Given the description of an element on the screen output the (x, y) to click on. 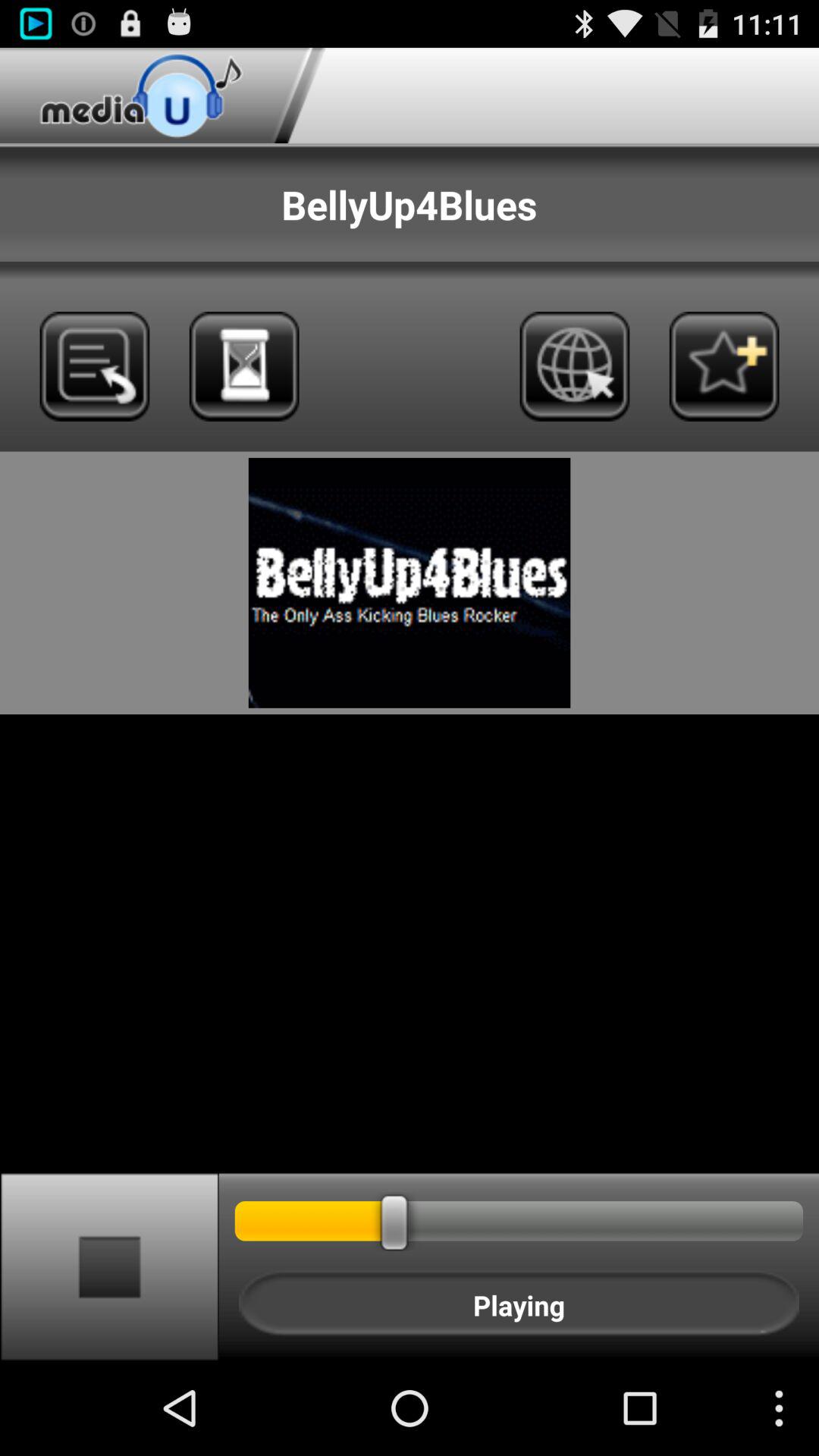
launch icon below the bellyup4blues item (574, 366)
